Given the description of an element on the screen output the (x, y) to click on. 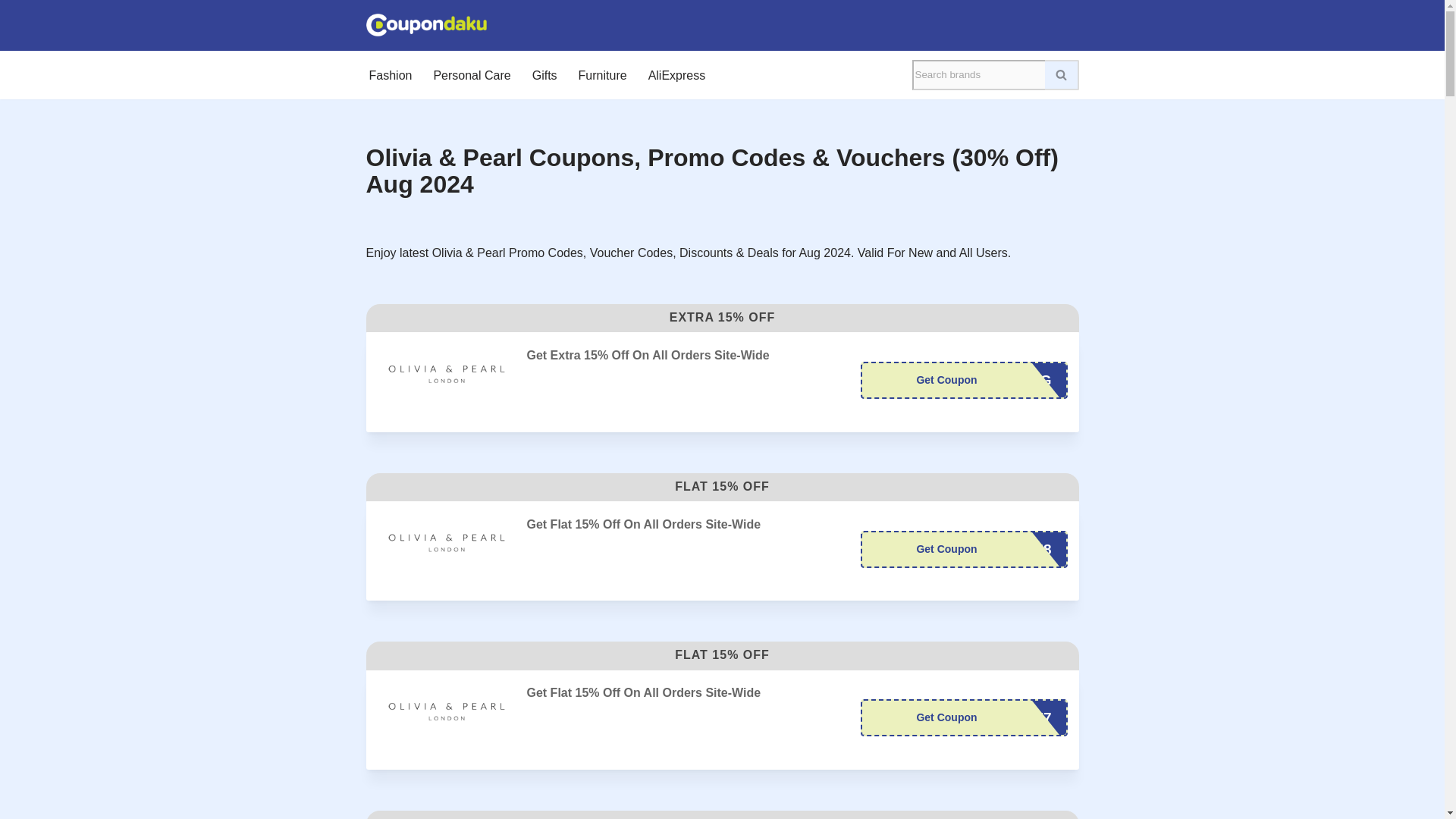
Gifts (544, 74)
Get Coupon (963, 549)
Skip to content (11, 31)
Get Coupon (963, 379)
Furniture (602, 74)
AliExpress (676, 74)
Fashion (390, 74)
Personal Care (471, 74)
